Given the description of an element on the screen output the (x, y) to click on. 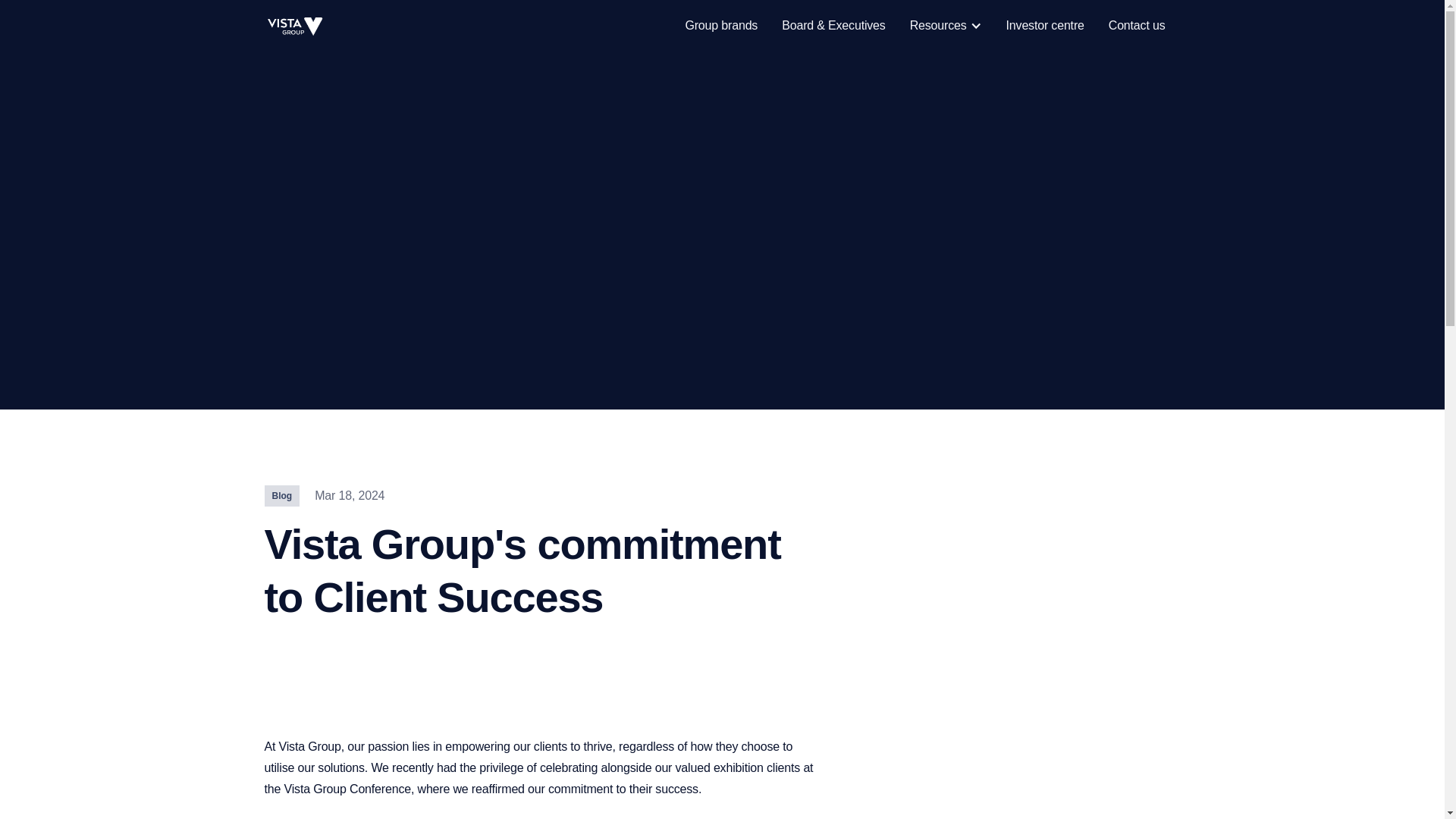
Contact us (1136, 25)
Group brands (721, 25)
Investor centre (1045, 25)
